Given the description of an element on the screen output the (x, y) to click on. 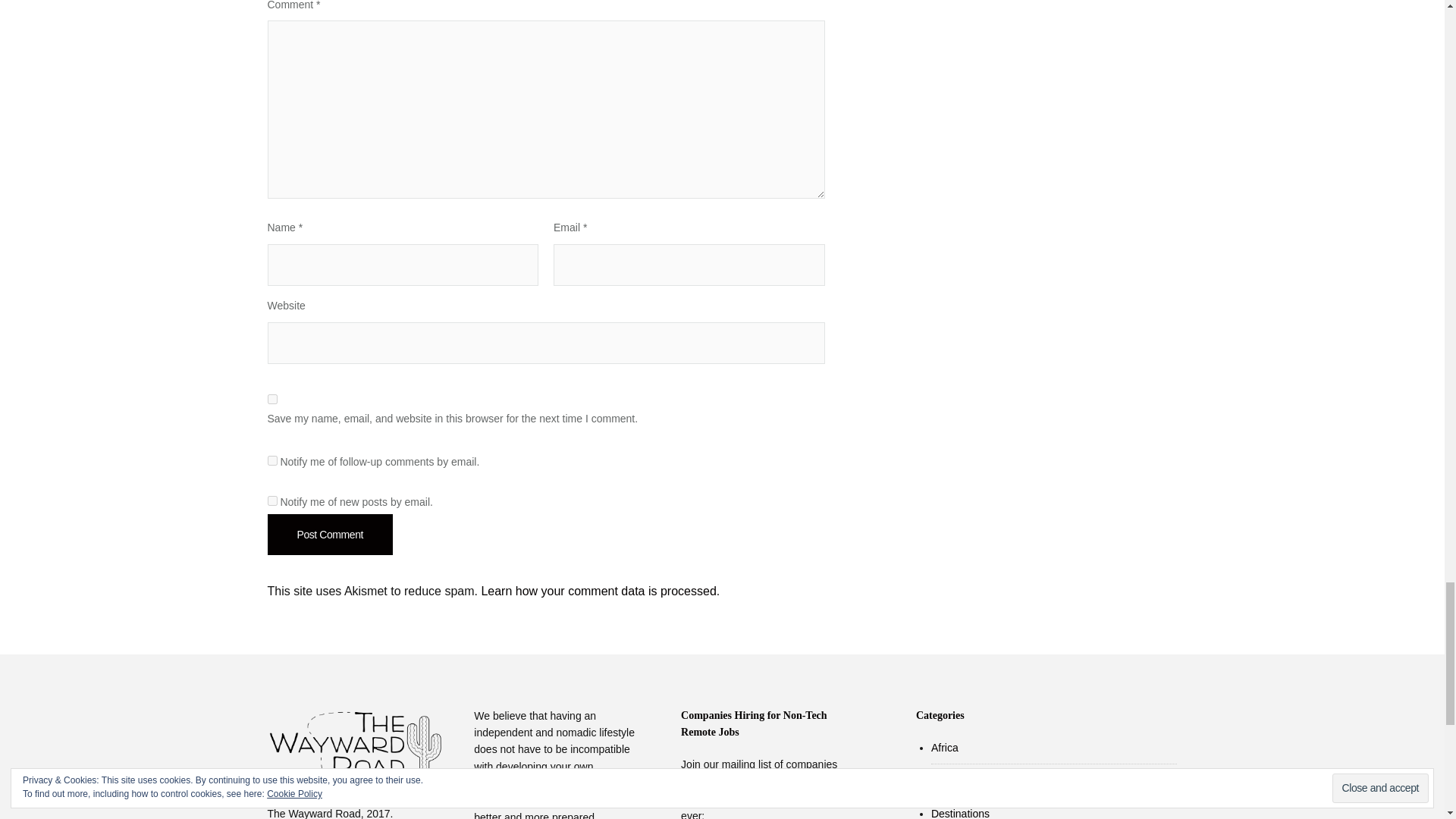
Post Comment (329, 534)
subscribe (271, 501)
Learn how your comment data is processed (598, 590)
Post Comment (329, 534)
subscribe (271, 460)
yes (271, 398)
